Given the description of an element on the screen output the (x, y) to click on. 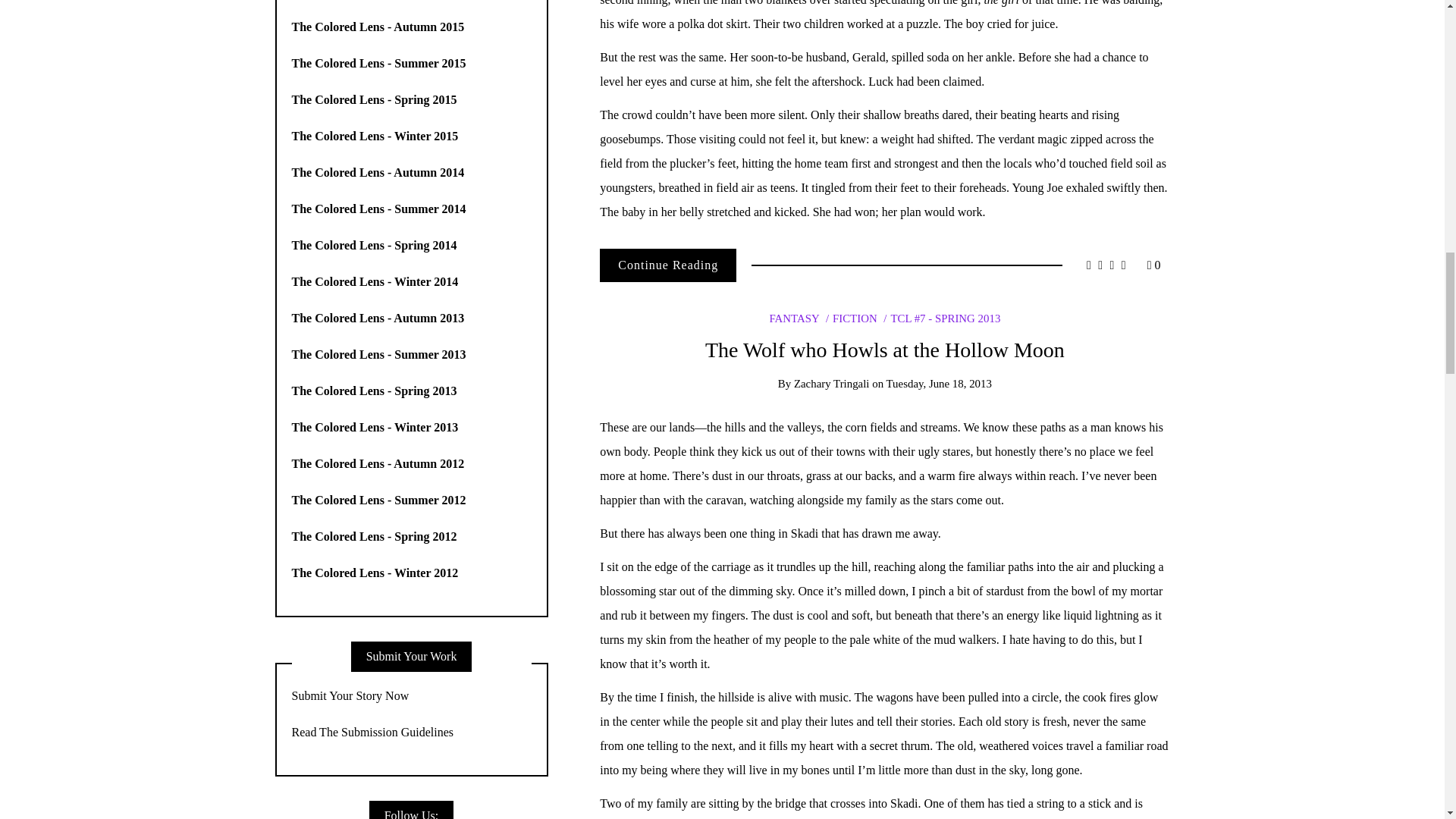
Posts by Zachary Tringali (831, 383)
Four Leaf Clovers (667, 264)
Zachary Tringali (831, 383)
FANTASY (793, 318)
The Wolf who Howls at the Hollow Moon (884, 349)
Continue Reading (667, 264)
Tuesday, June 18, 2013 (938, 383)
FICTION (851, 318)
0 (1153, 264)
